Given the description of an element on the screen output the (x, y) to click on. 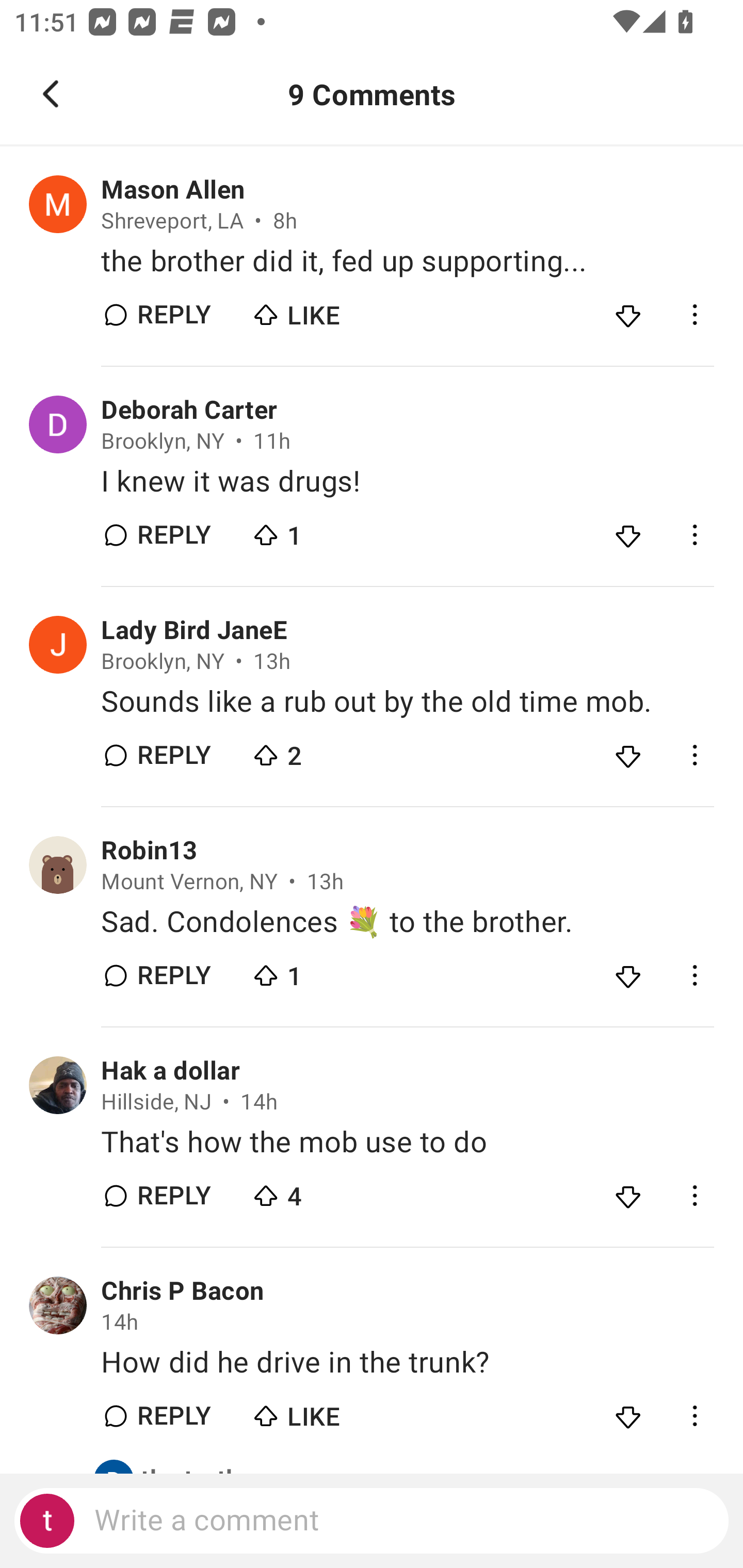
Navigate up (50, 93)
Mason Allen (173, 190)
the brother did it, fed up supporting... (407, 261)
LIKE (320, 310)
REPLY (173, 314)
Deborah Carter (189, 409)
I knew it was drugs! (407, 481)
1 (320, 530)
REPLY (173, 535)
Lady Bird JaneE (194, 631)
Sounds like a rub out by the old time mob. (407, 702)
2 (320, 750)
REPLY (173, 754)
Robin13 (149, 850)
Sad. Condolences 💐 to the brother. (407, 921)
1 (320, 971)
REPLY (173, 976)
Hak a dollar (170, 1070)
That's how the mob use to do  (407, 1141)
4 (320, 1190)
REPLY (173, 1195)
Chris P Bacon (182, 1291)
How did he drive in the trunk? (407, 1362)
LIKE (320, 1411)
REPLY (173, 1416)
Write a comment (371, 1520)
